Given the description of an element on the screen output the (x, y) to click on. 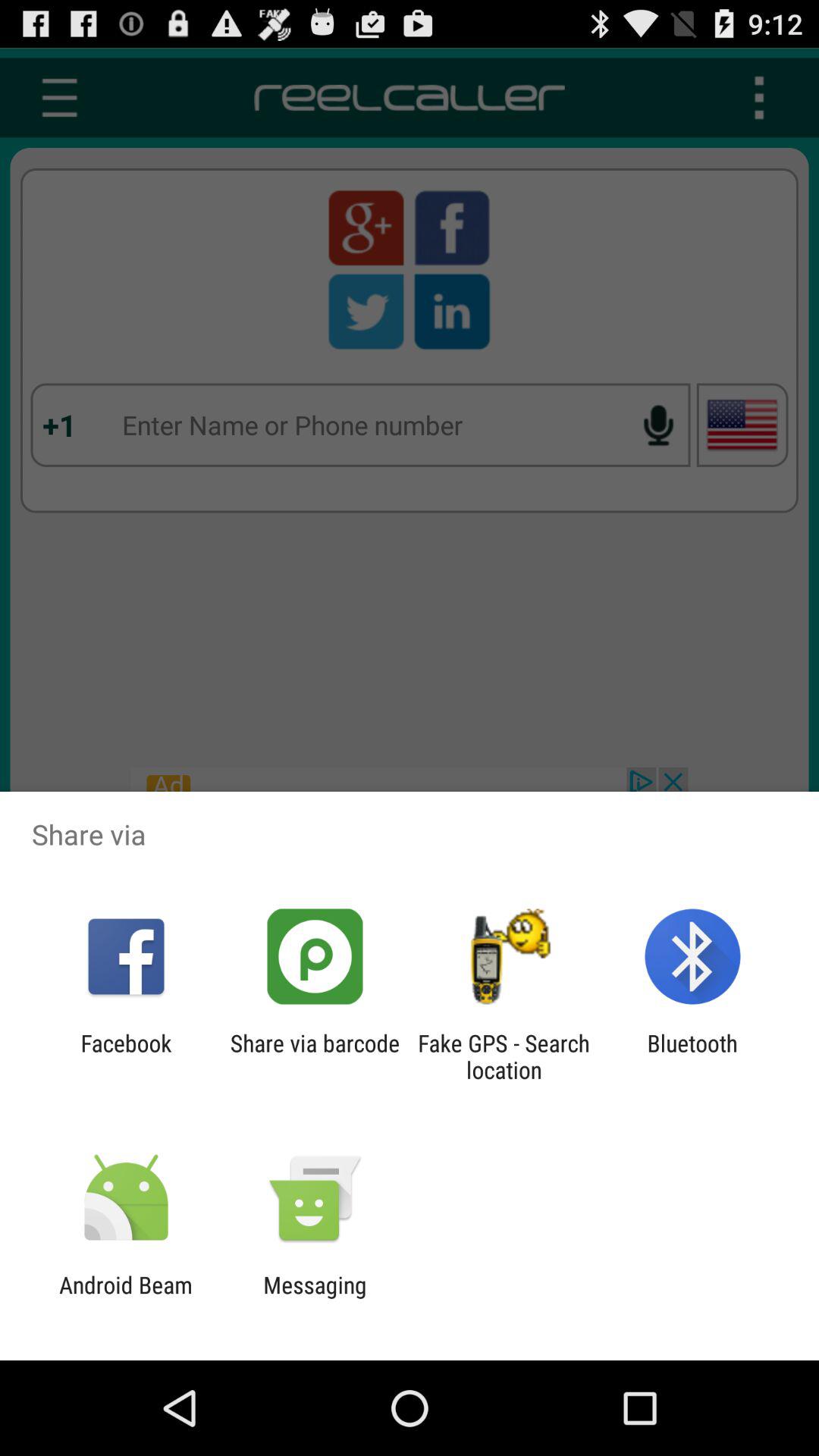
choose icon next to the share via barcode (503, 1056)
